Given the description of an element on the screen output the (x, y) to click on. 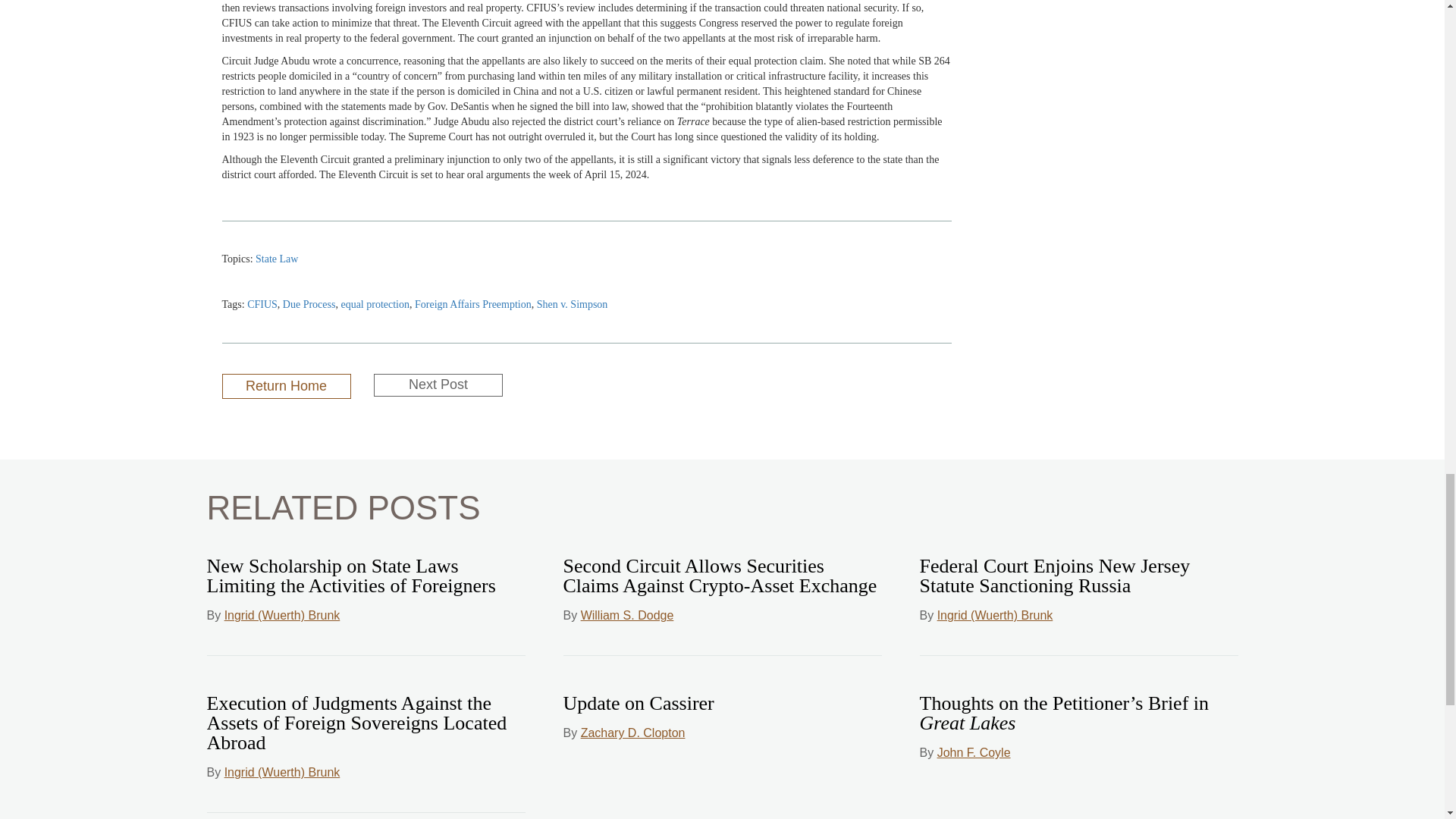
Update on Cassirer (637, 703)
Federal Court Enjoins New Jersey Statute Sanctioning Russia (1053, 576)
